Given the description of an element on the screen output the (x, y) to click on. 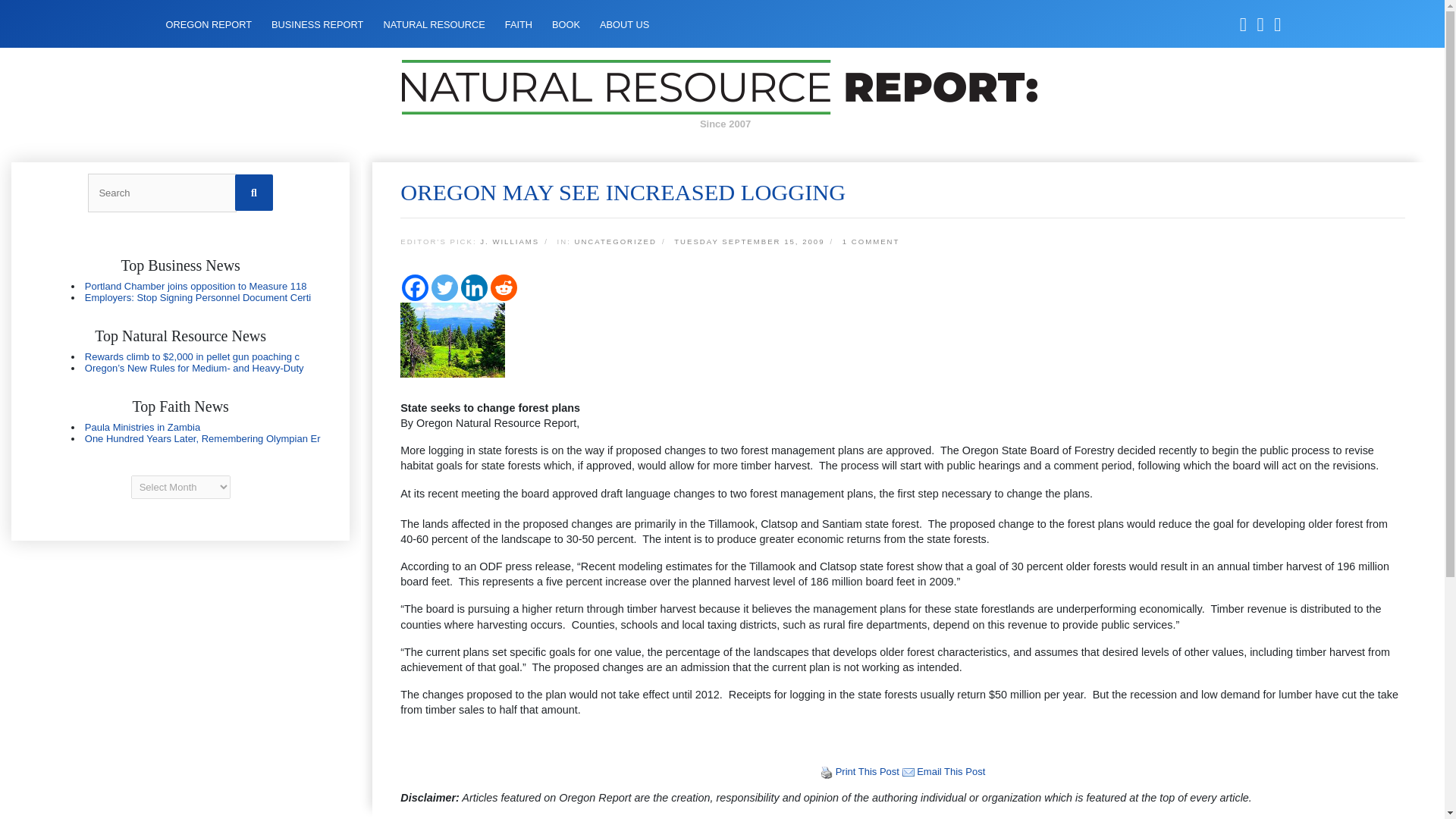
UNCATEGORIZED (614, 242)
Portland Chamber joins opposition to Measure 118 (195, 285)
Reddit (503, 287)
Oregon (180, 432)
NATURAL RESOURCE (433, 24)
Oregon (180, 362)
Email This Post (908, 771)
ABOUT US (624, 24)
Linkedin (474, 287)
